Given the description of an element on the screen output the (x, y) to click on. 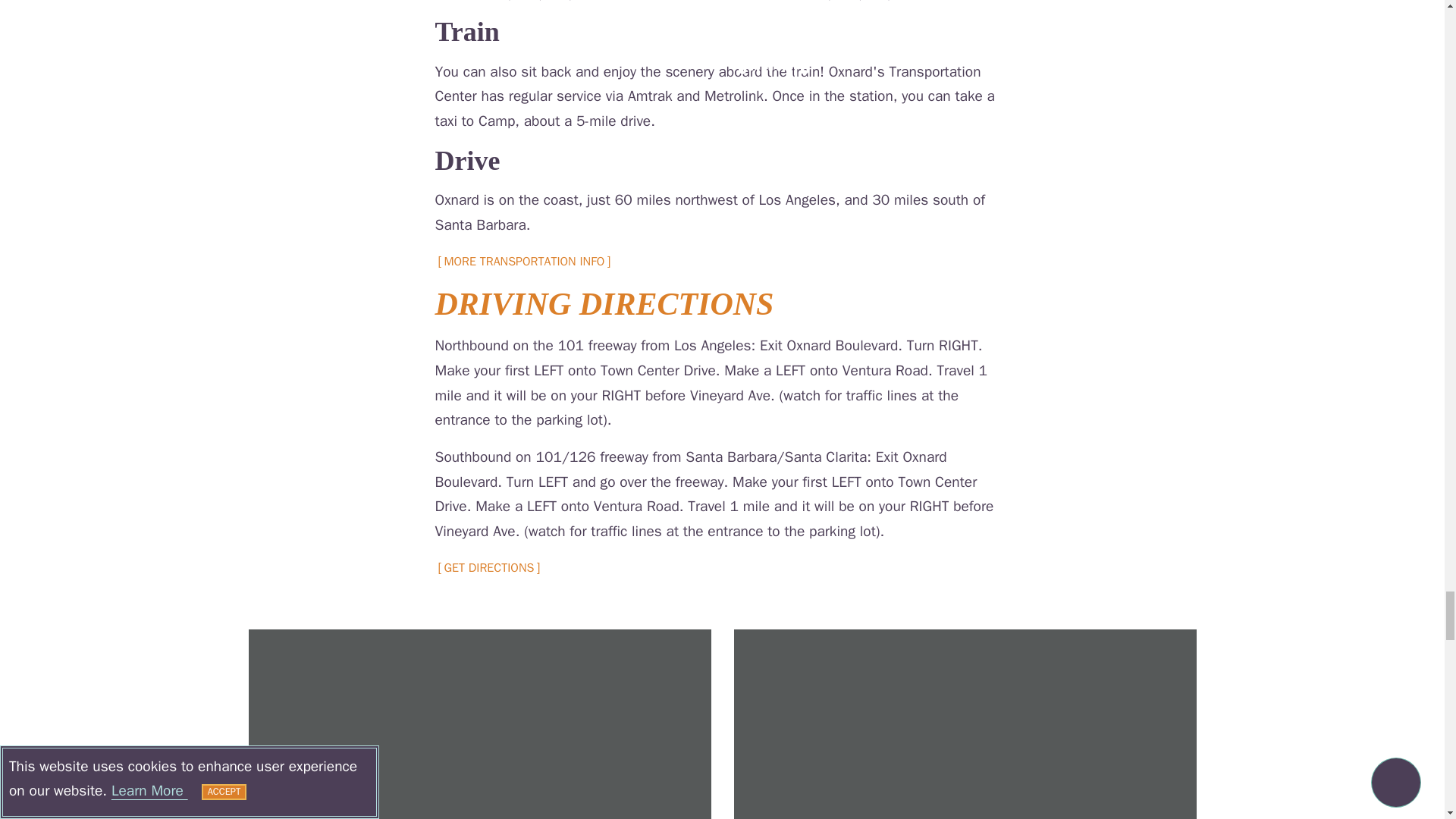
GET DIRECTIONS (489, 568)
MORE TRANSPORTATION INFO (524, 262)
